Given the description of an element on the screen output the (x, y) to click on. 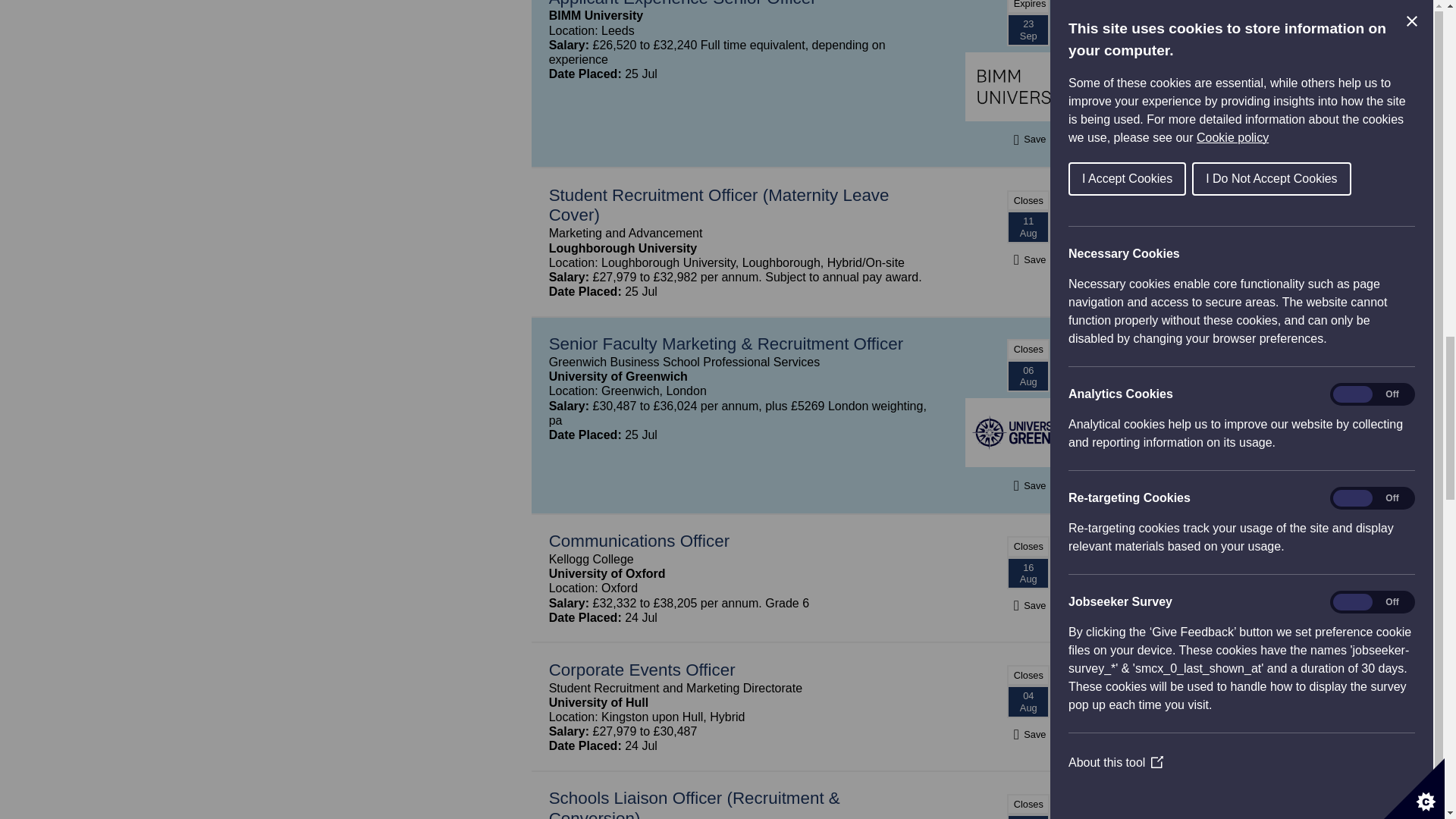
Save job (1027, 734)
Save job (1027, 605)
Save job (1027, 259)
Save job (1027, 485)
Save job (1027, 138)
